Given the description of an element on the screen output the (x, y) to click on. 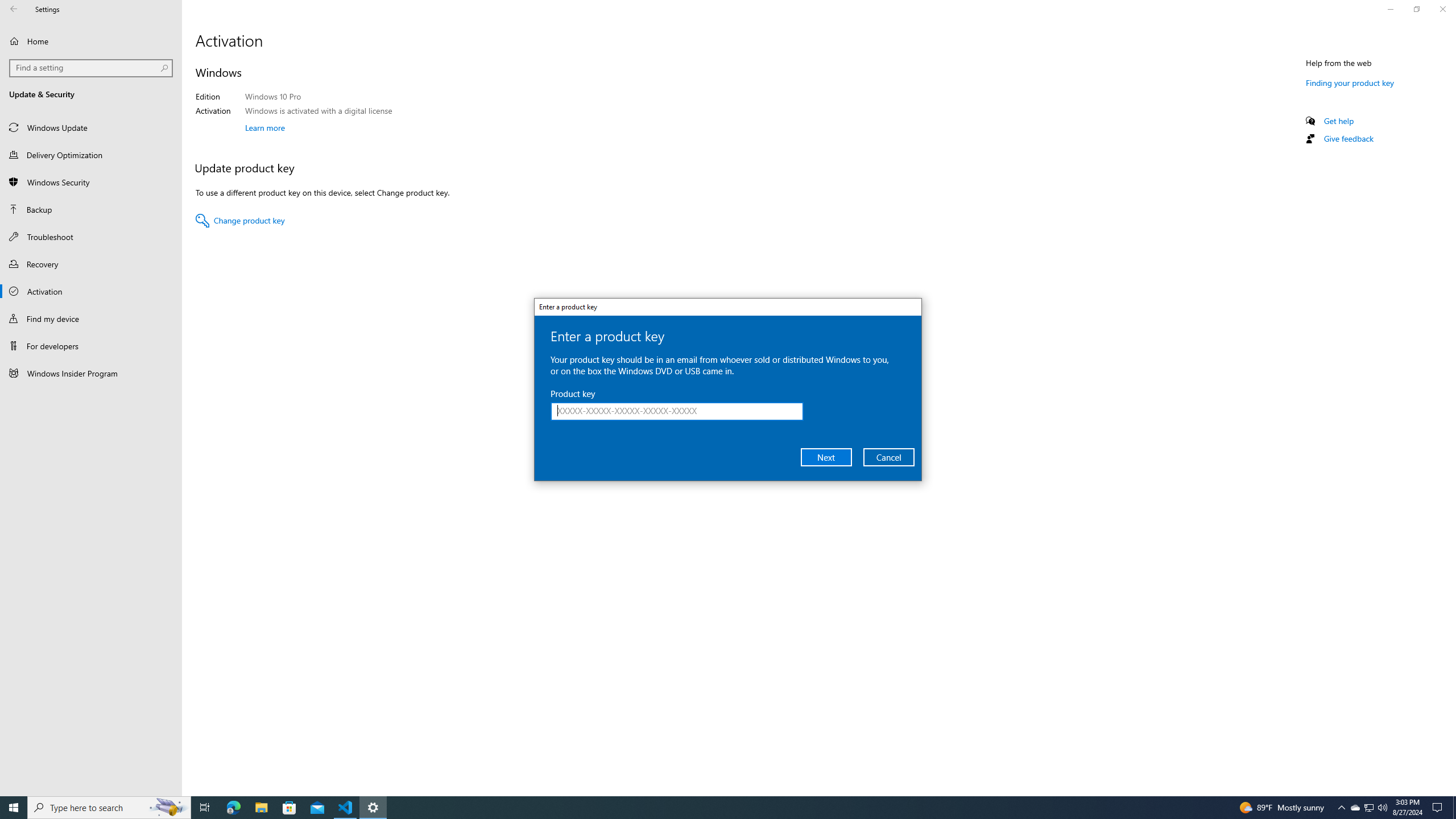
Cancel (888, 457)
